Given the description of an element on the screen output the (x, y) to click on. 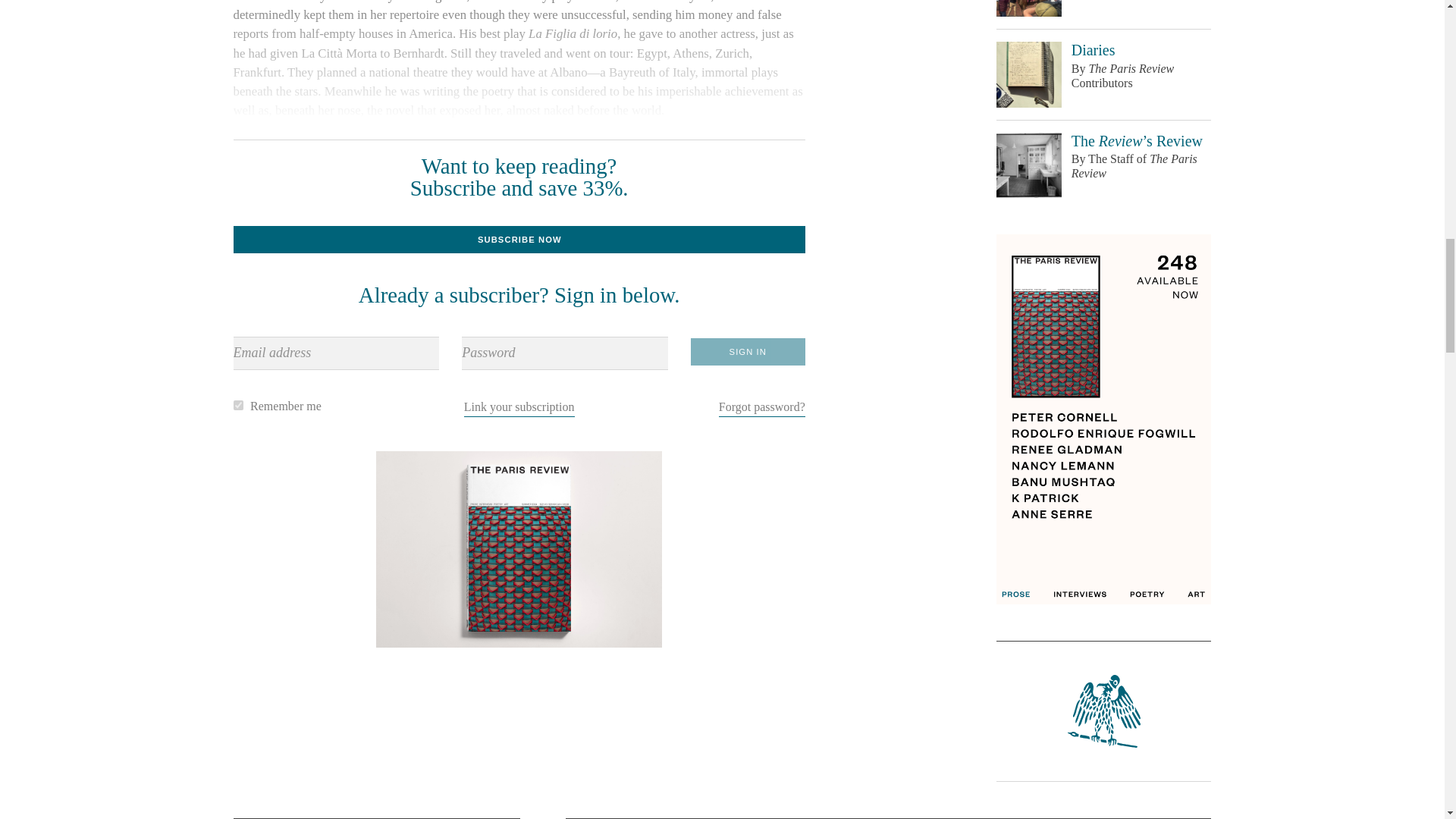
remember (237, 405)
Sign In (747, 351)
